Given the description of an element on the screen output the (x, y) to click on. 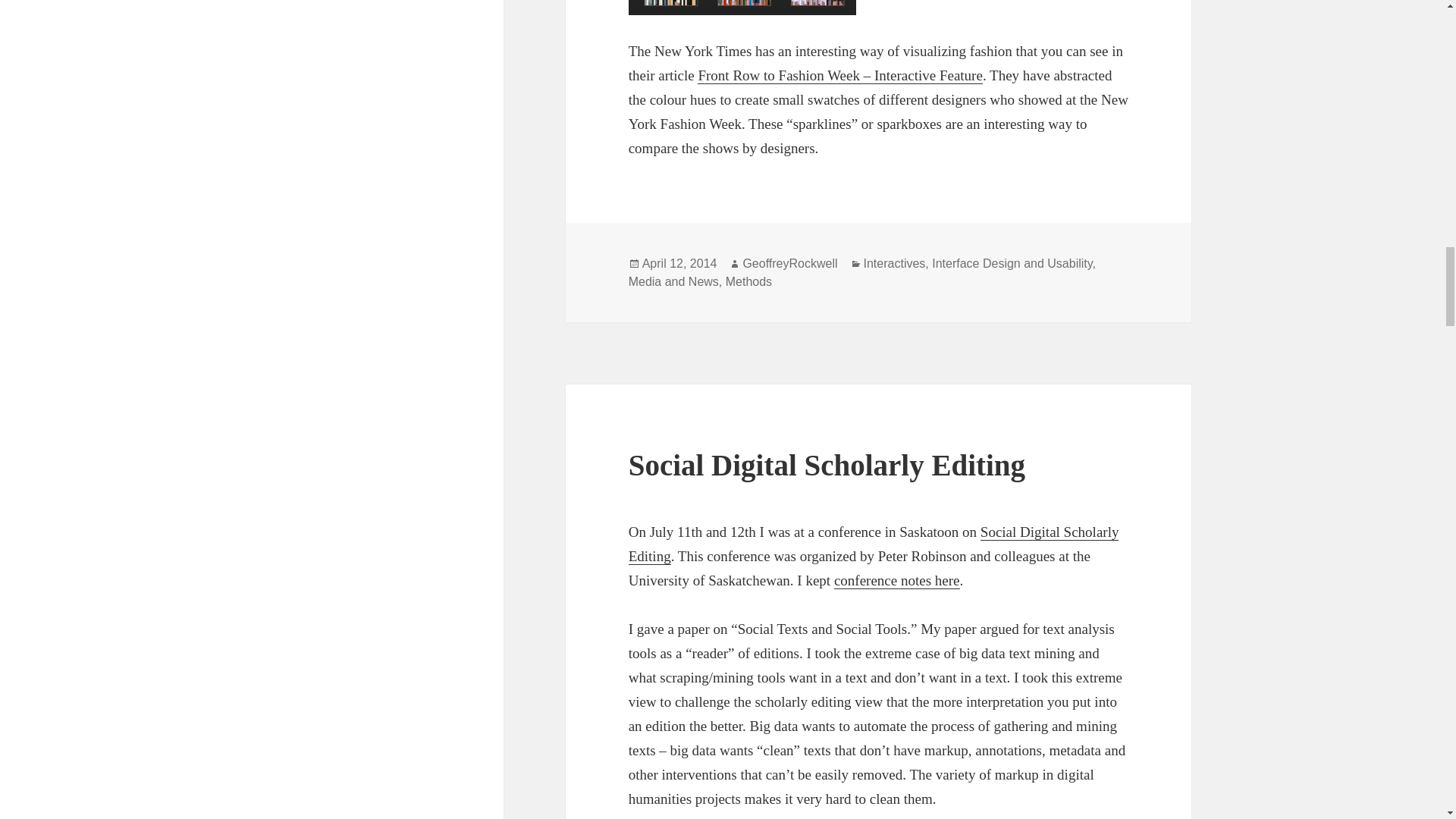
Fashion (742, 7)
